Given the description of an element on the screen output the (x, y) to click on. 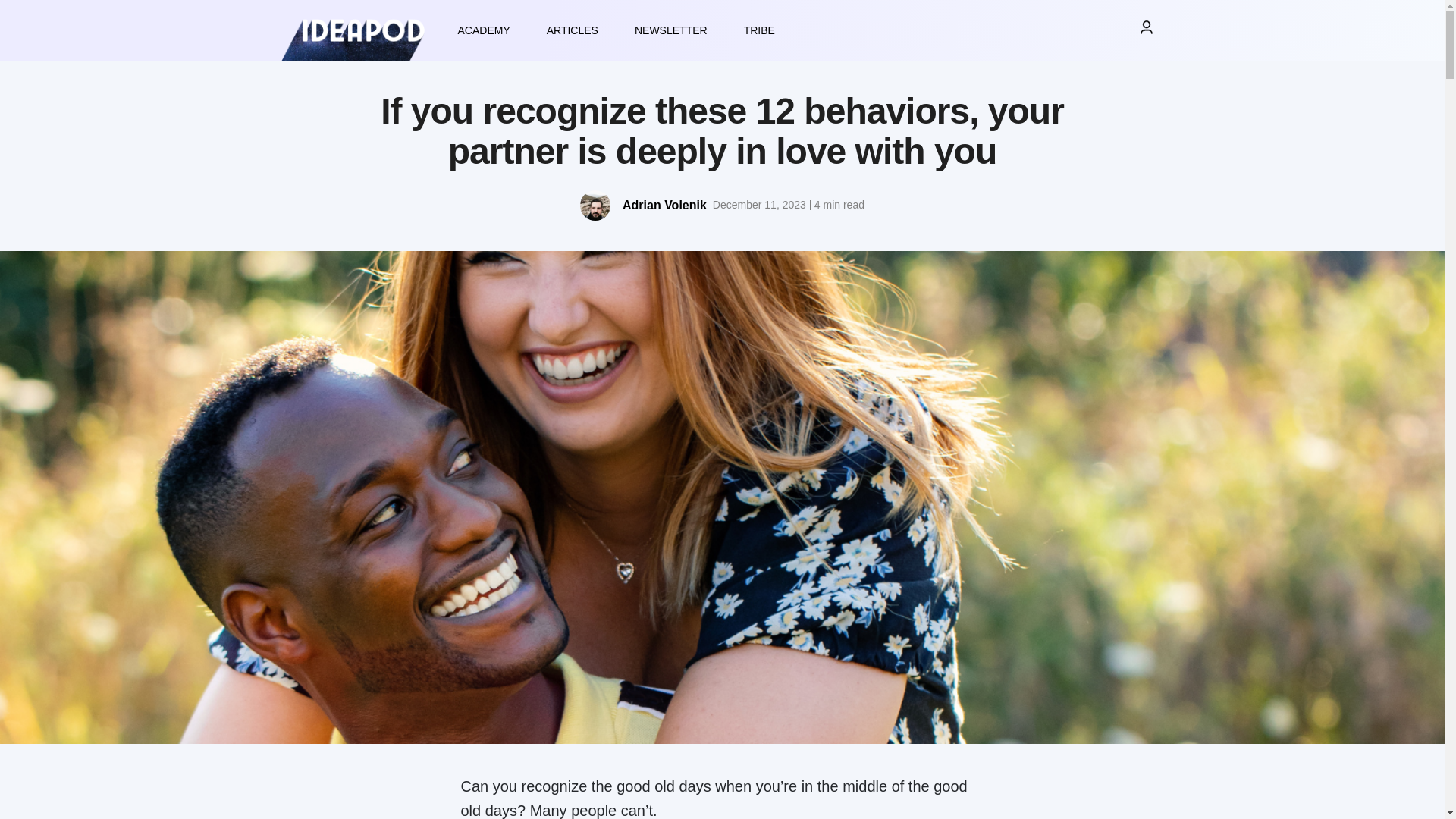
ARTICLES (571, 30)
ACADEMY (483, 30)
NEWSLETTER (670, 30)
